Given the description of an element on the screen output the (x, y) to click on. 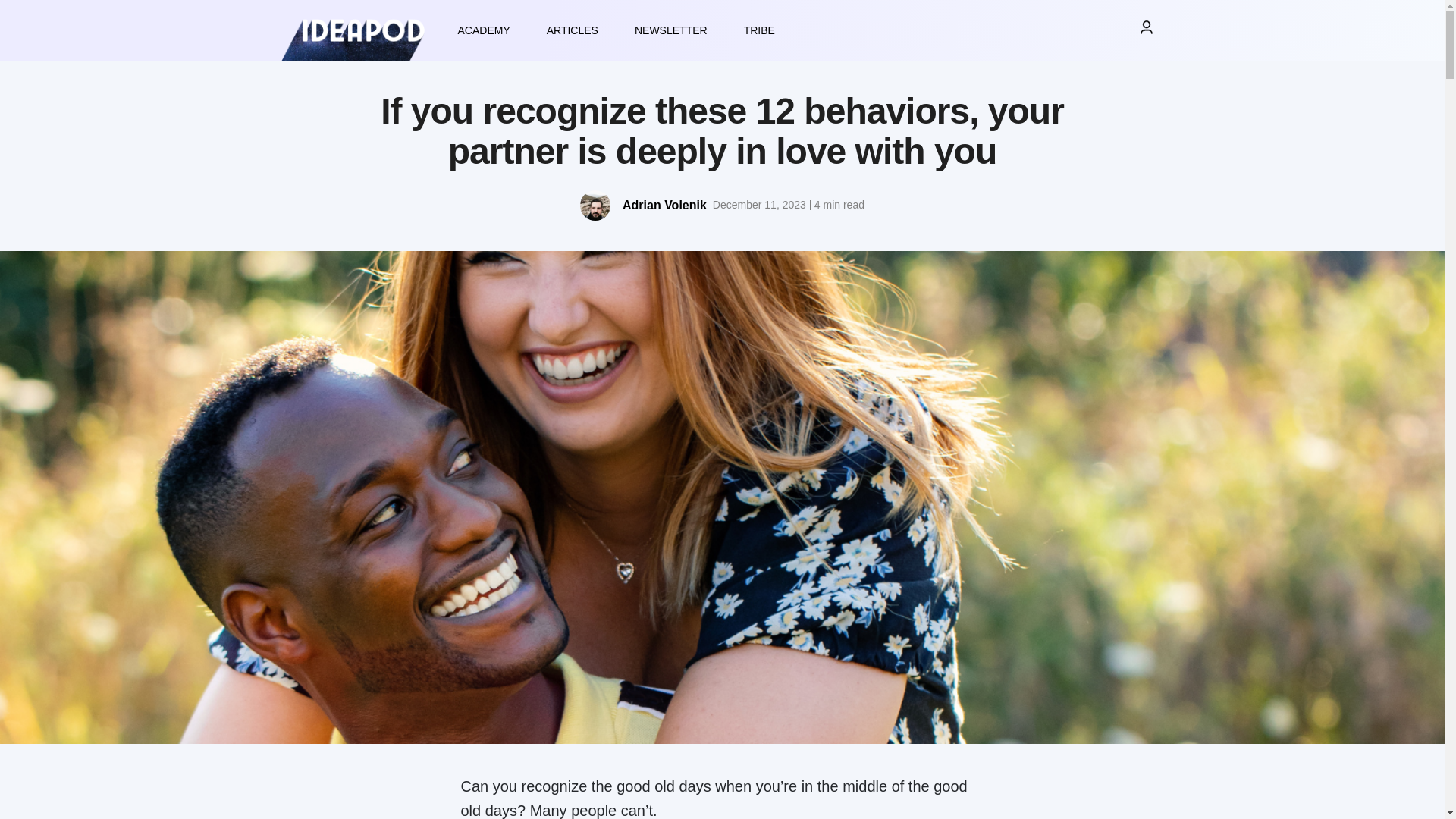
ARTICLES (571, 30)
ACADEMY (483, 30)
NEWSLETTER (670, 30)
